Given the description of an element on the screen output the (x, y) to click on. 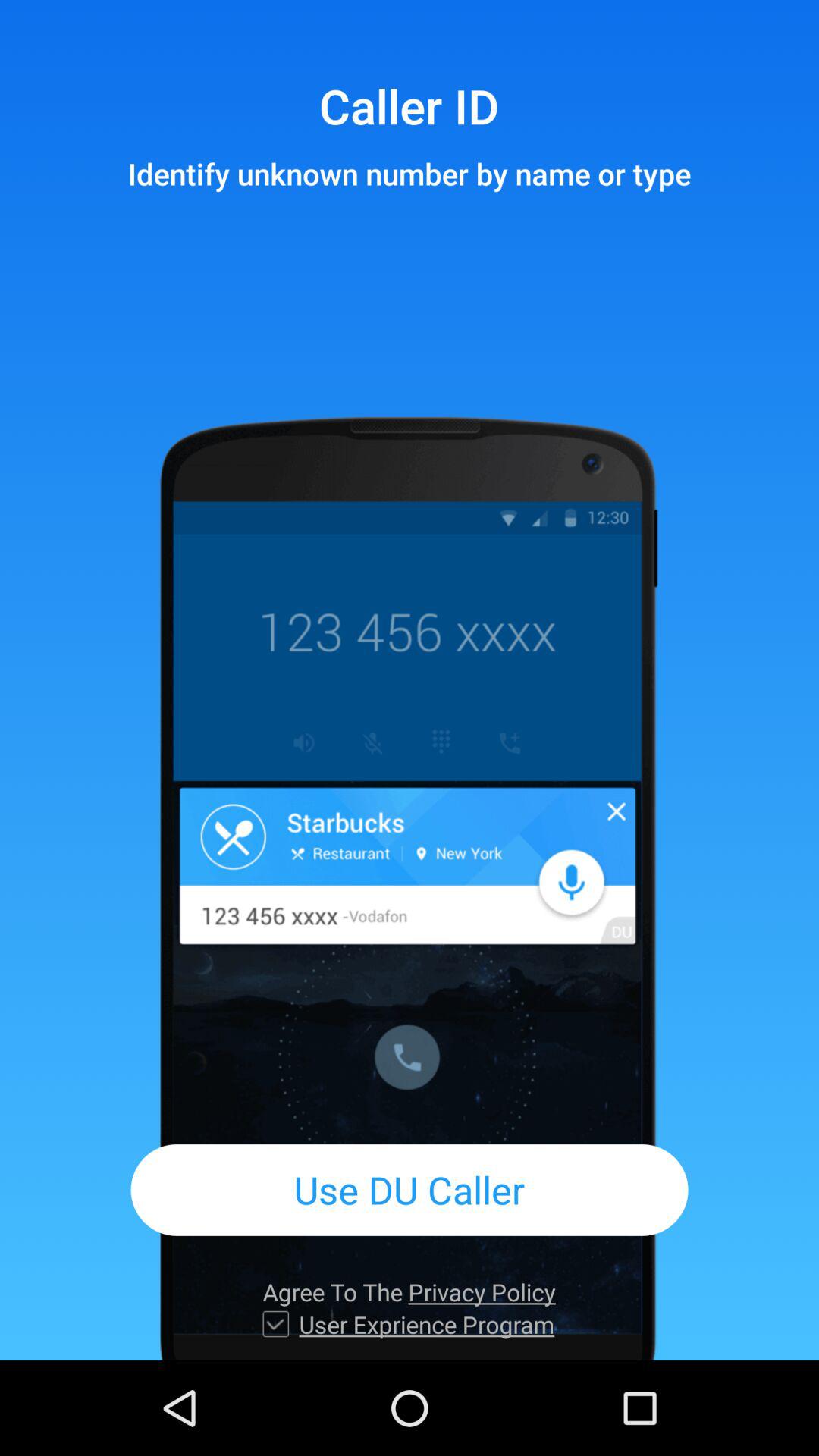
tap agree to the (408, 1291)
